Given the description of an element on the screen output the (x, y) to click on. 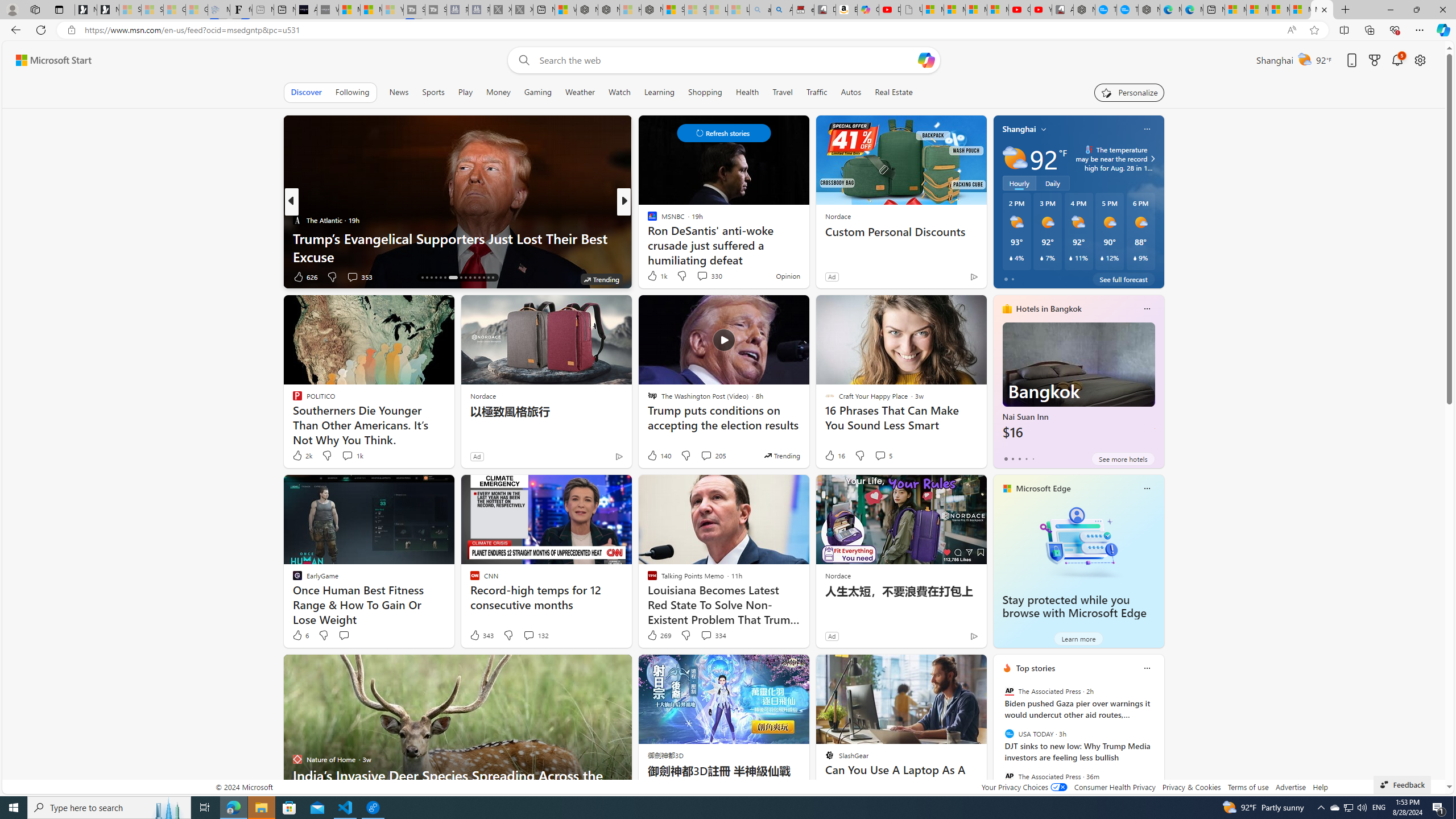
91 Like (652, 276)
The words and phrases you should never use in work emails (807, 247)
Watch (619, 92)
Following (352, 92)
Start the conversation (343, 634)
Class: control (723, 132)
App bar (728, 29)
Nordace - Nordace has arrived Hong Kong (1149, 9)
Autos (851, 92)
New tab - Sleeping (262, 9)
View comments 330 Comment (708, 275)
